Given the description of an element on the screen output the (x, y) to click on. 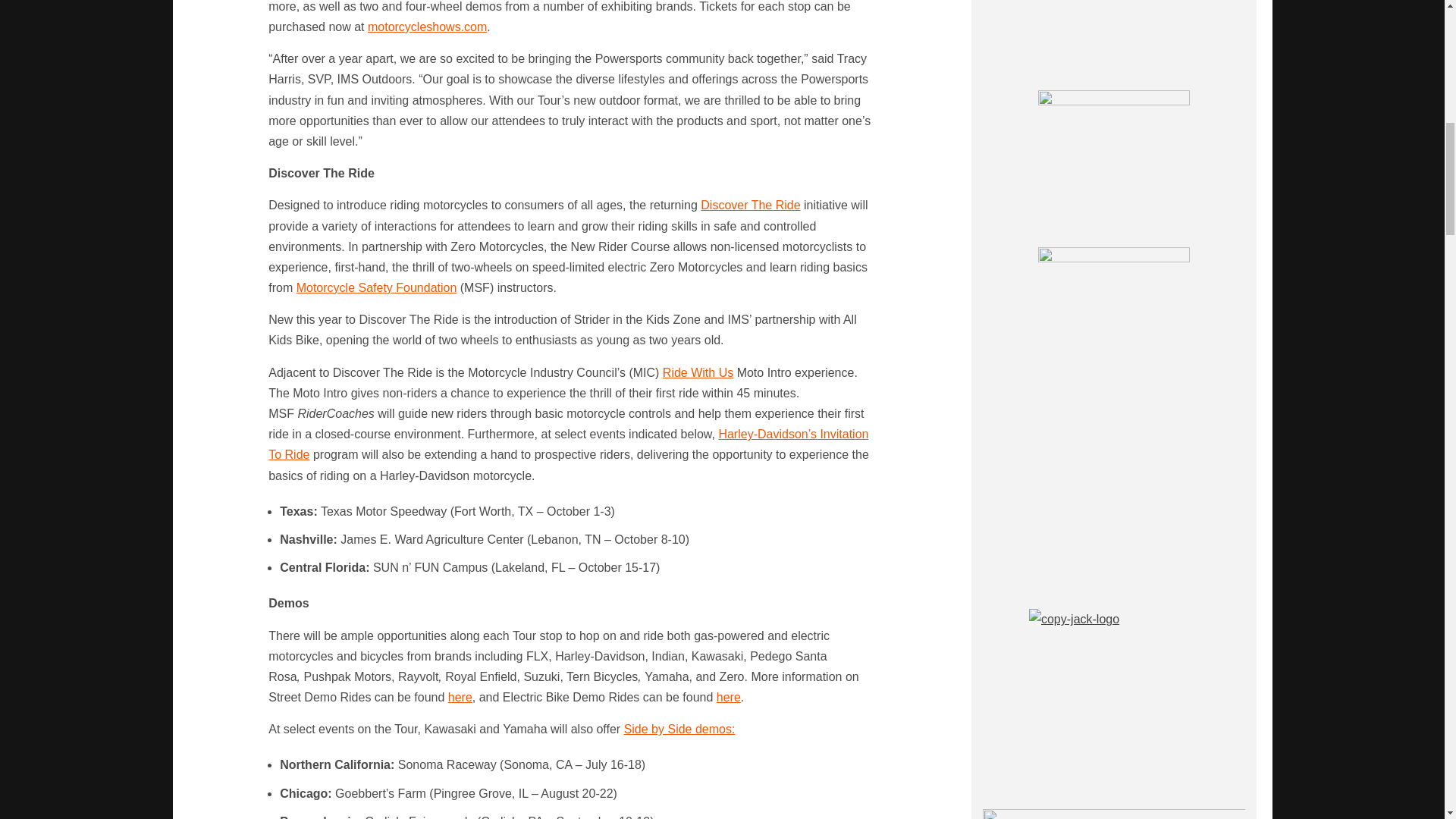
Discover The Ride (749, 205)
motorcycleshows.com (427, 26)
here (728, 697)
Ride With Us (697, 372)
here (459, 697)
Side by Side demos: (679, 728)
Motorcycle Safety Foundation (377, 287)
